Given the description of an element on the screen output the (x, y) to click on. 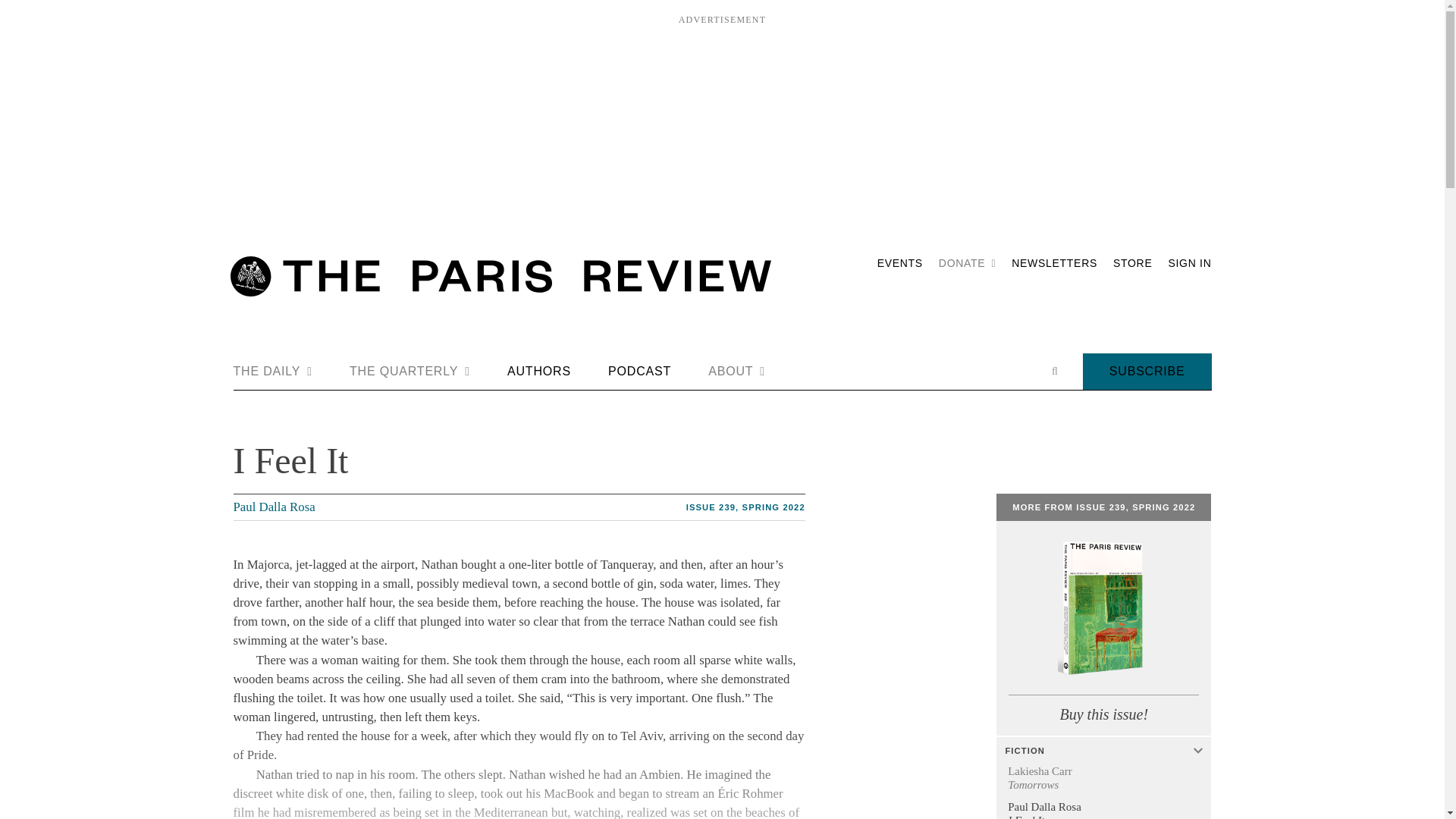
THE QUARTERLY (409, 371)
Open search (1054, 371)
THE DAILY (272, 371)
